Given the description of an element on the screen output the (x, y) to click on. 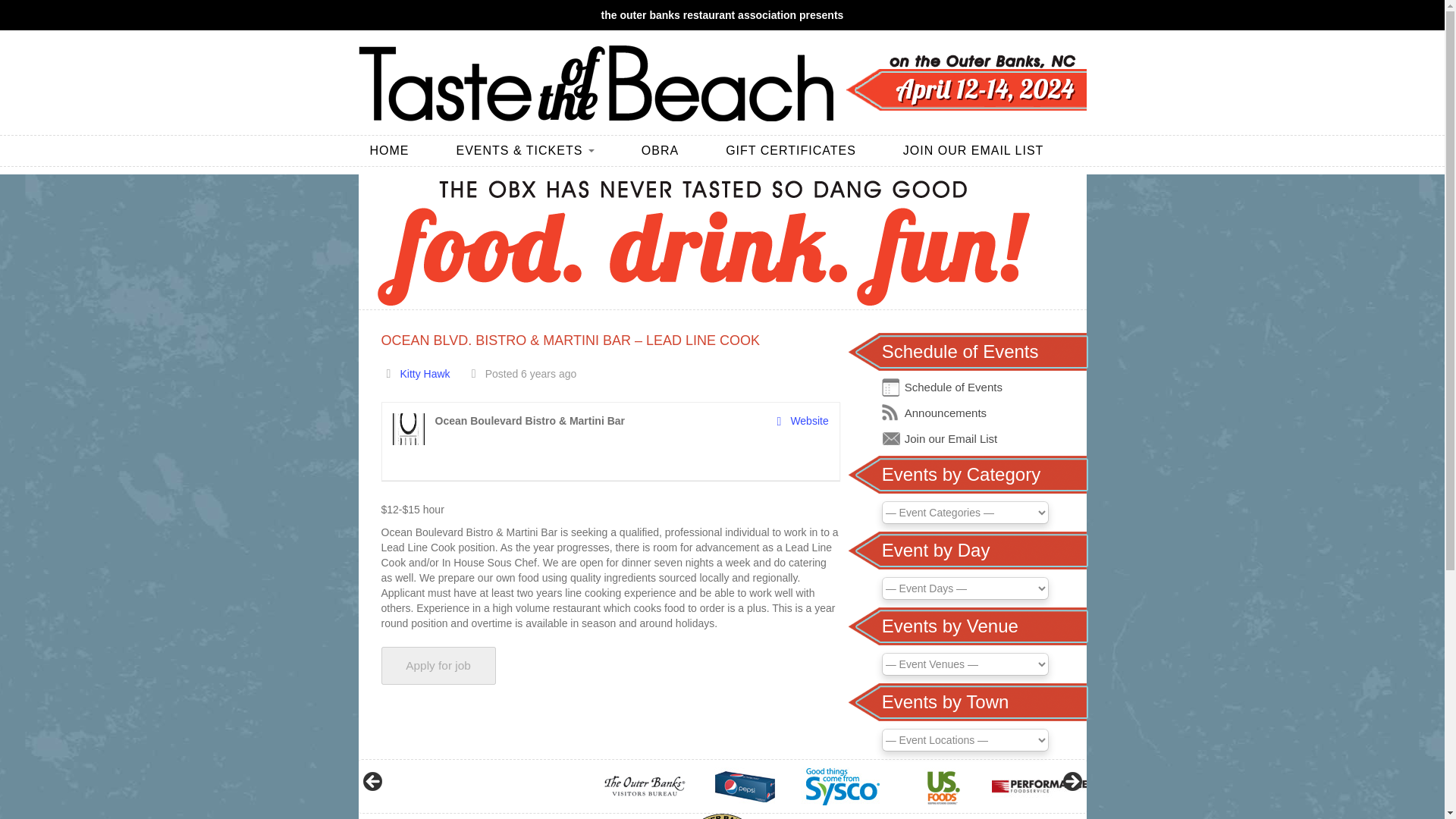
Skip to secondary content (61, 142)
Announcements (945, 412)
pfg-northcenter-logo (1038, 786)
OBRA (672, 150)
Skip to primary content (53, 142)
Join our Email List (950, 438)
Schedule of Events (953, 386)
Skip to secondary content (61, 142)
GIFT CERTIFICATES (802, 150)
Website (802, 421)
Welcome to the 2024 Outer Banks Taste of The Beach (595, 83)
Skip to primary content (53, 142)
Apply for job (437, 665)
Kitty Hawk (424, 373)
JOIN OUR EMAIL LIST (967, 150)
